Given the description of an element on the screen output the (x, y) to click on. 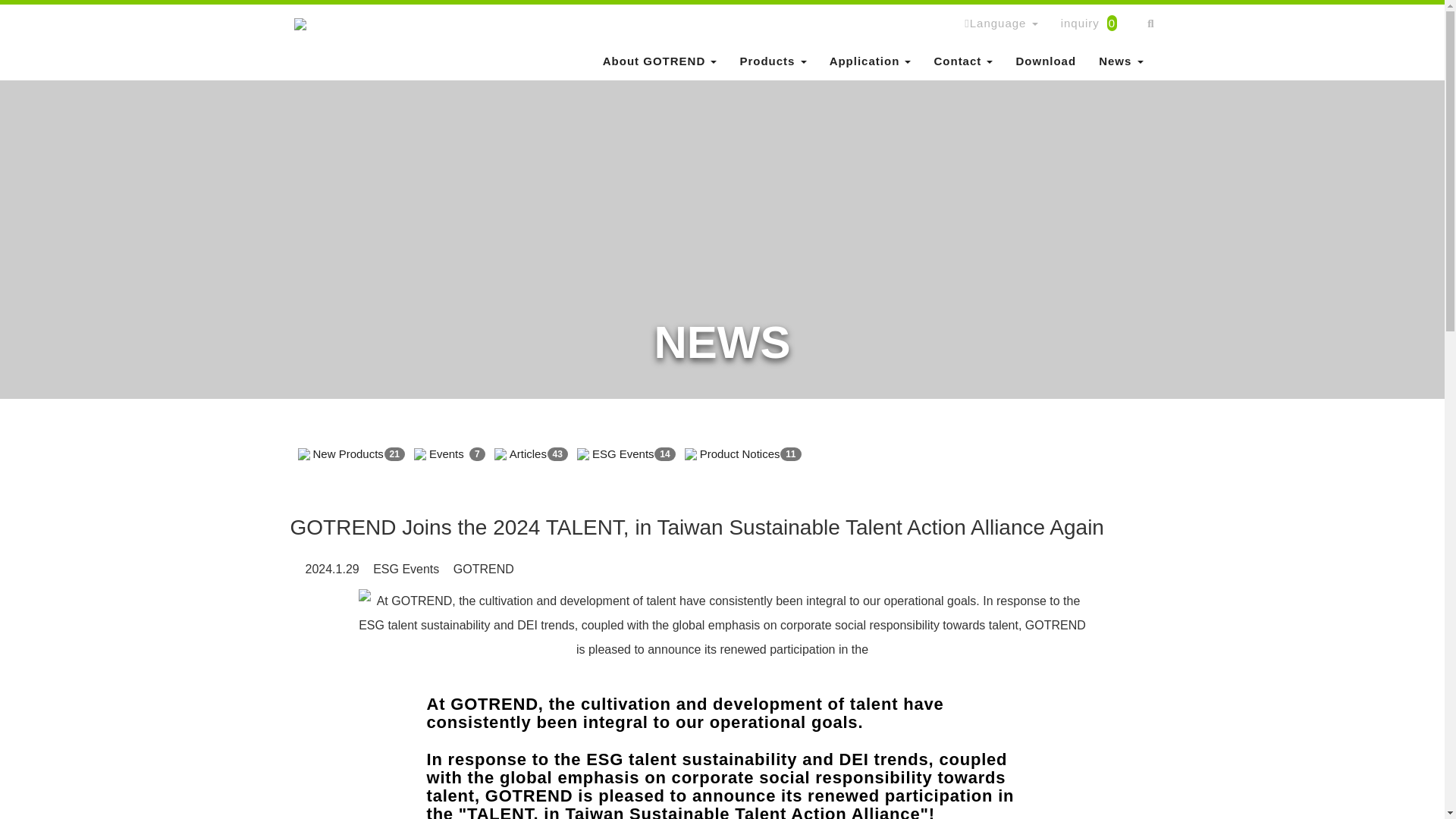
Language (1000, 23)
ESG Events (623, 454)
inquiry0 (1093, 23)
Product  Notices (740, 454)
New Products (347, 454)
Events (446, 454)
About GOTREND (660, 61)
Application (870, 61)
Articles  (527, 454)
Products (772, 61)
